Given the description of an element on the screen output the (x, y) to click on. 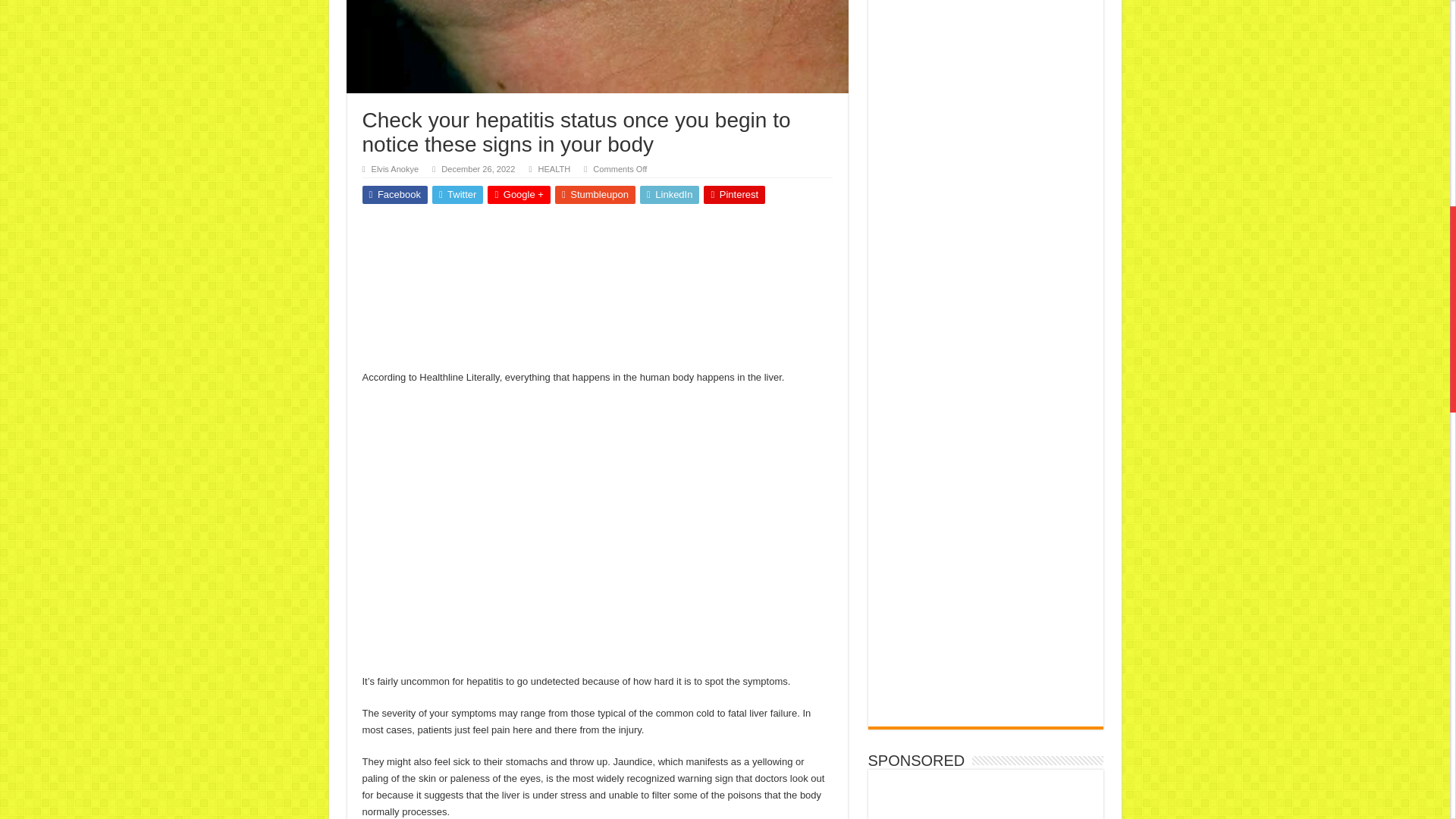
Elvis Anokye (395, 168)
Scroll To Top (1427, 60)
HEALTH (553, 168)
Facebook (395, 194)
YouTube video player (597, 533)
Twitter (457, 194)
